Given the description of an element on the screen output the (x, y) to click on. 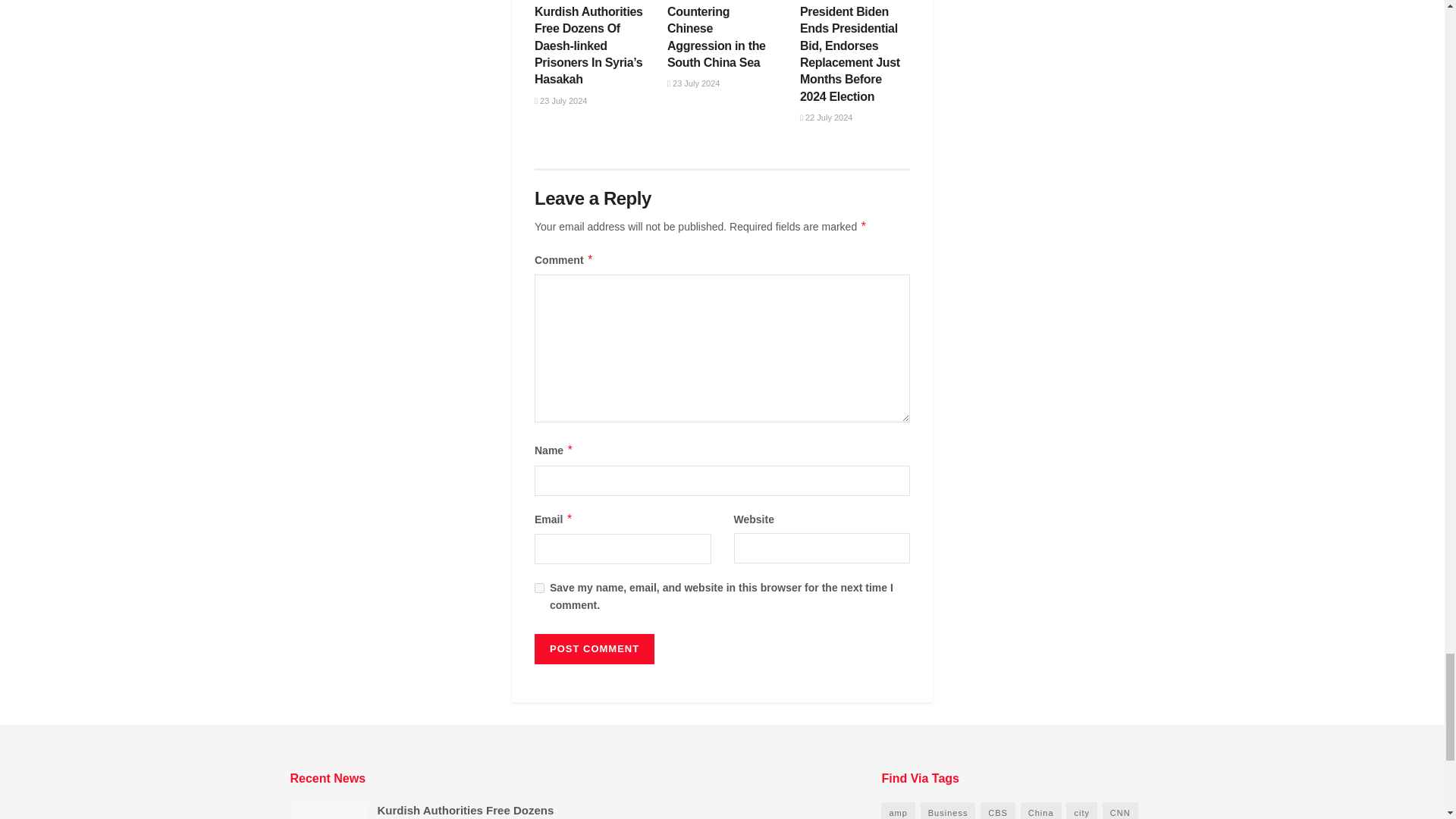
23 July 2024 (560, 100)
yes (539, 587)
Post Comment (593, 648)
